Given the description of an element on the screen output the (x, y) to click on. 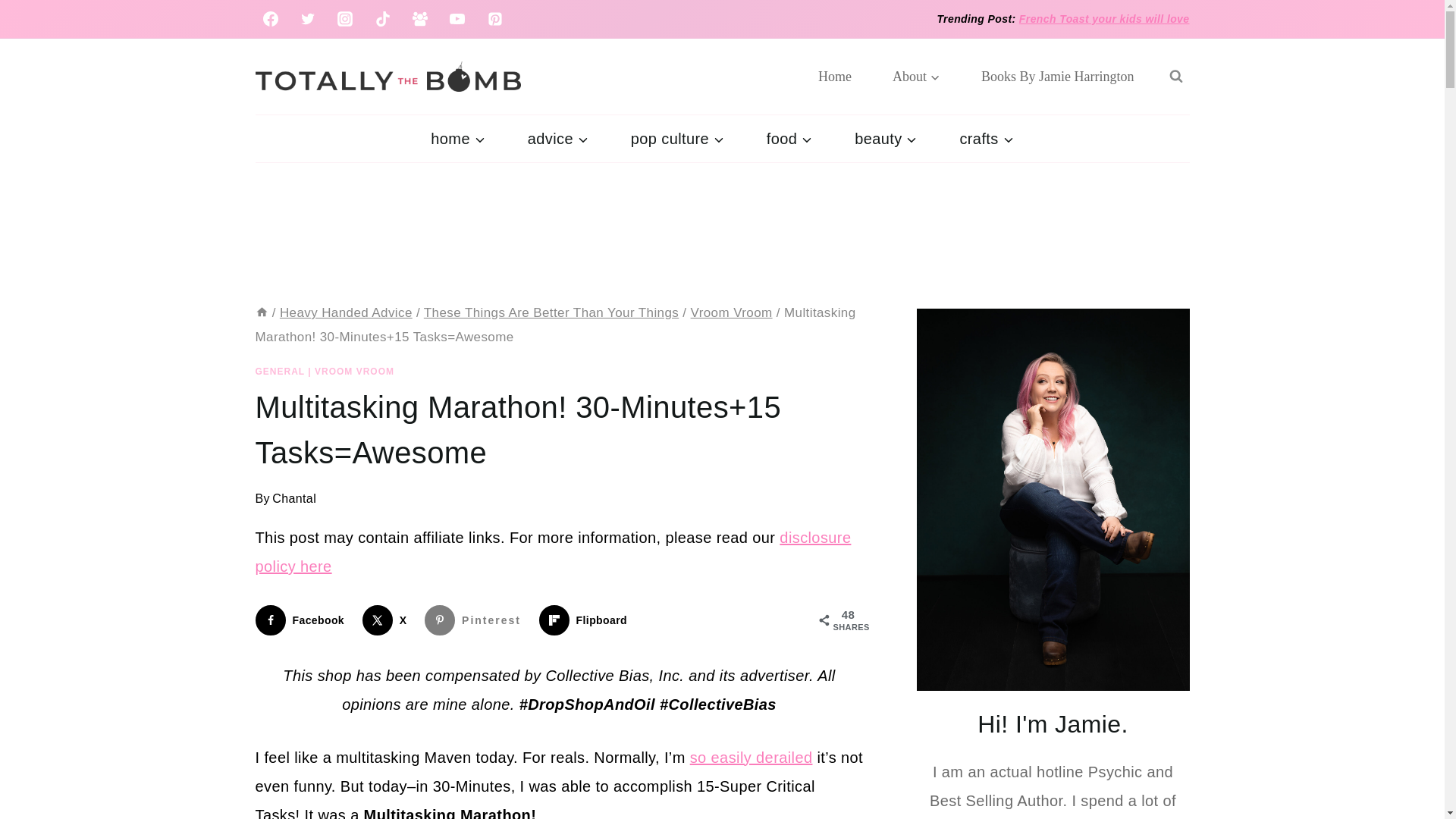
pop culture (677, 138)
Save to Pinterest (476, 620)
Home (834, 76)
Share on Flipboard (585, 620)
Share on X (387, 620)
home (457, 138)
About (916, 76)
advice (558, 138)
French Toast your kids will love (1104, 19)
Home (260, 312)
Books By Jamie Harrington (1057, 76)
Share on Facebook (302, 620)
